Given the description of an element on the screen output the (x, y) to click on. 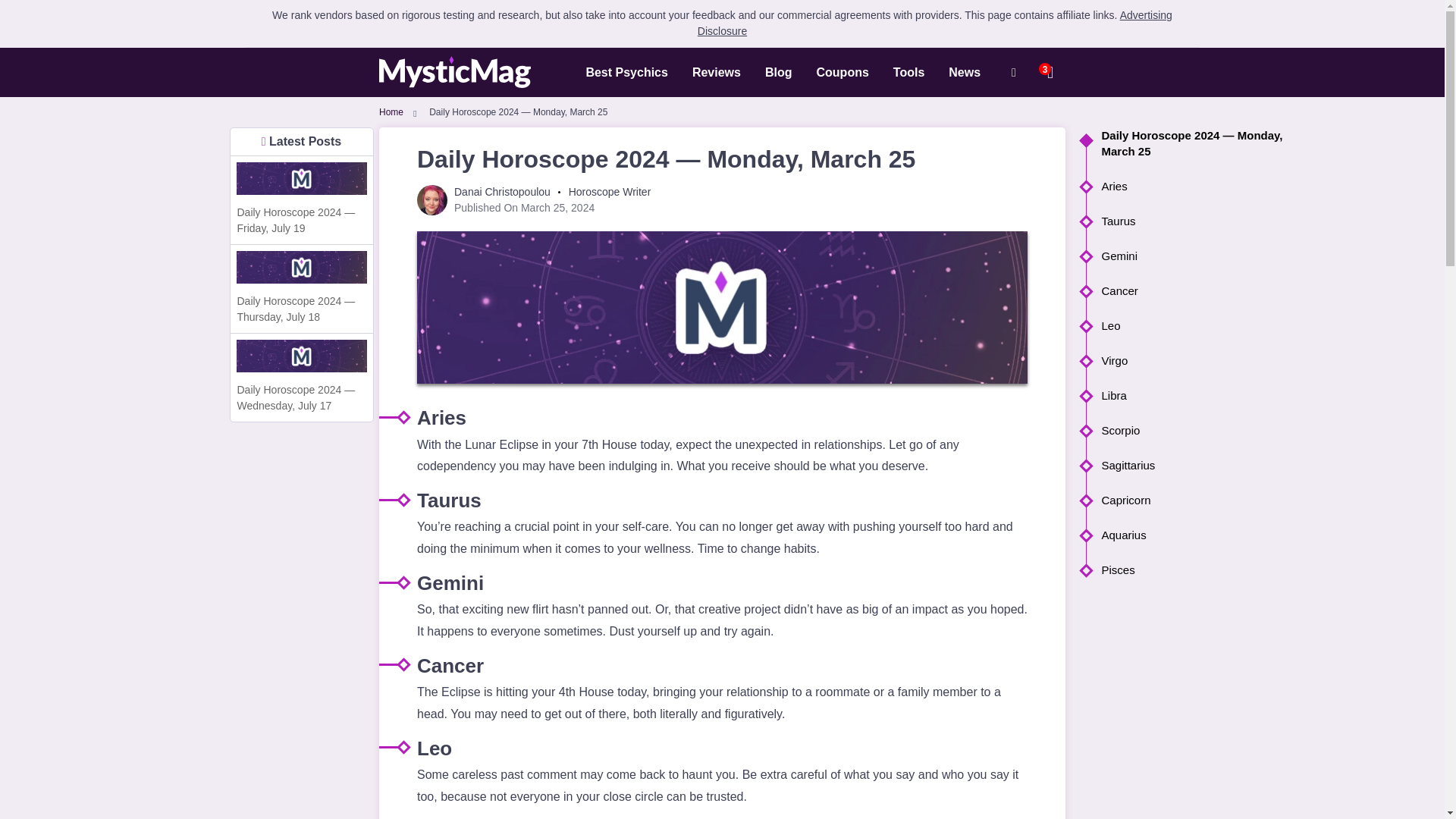
Best Psychics (626, 71)
Coupons (841, 71)
Cancer (1193, 290)
Reviews (716, 71)
Aries (1193, 186)
Best Psychics (626, 71)
Capricorn (1193, 499)
Blog (778, 71)
Advertising Disclosure (934, 22)
Reviews (716, 71)
Virgo (1193, 360)
Libra (1193, 395)
Leo (1193, 325)
Scorpio (1193, 430)
Sagittarius (1193, 465)
